Given the description of an element on the screen output the (x, y) to click on. 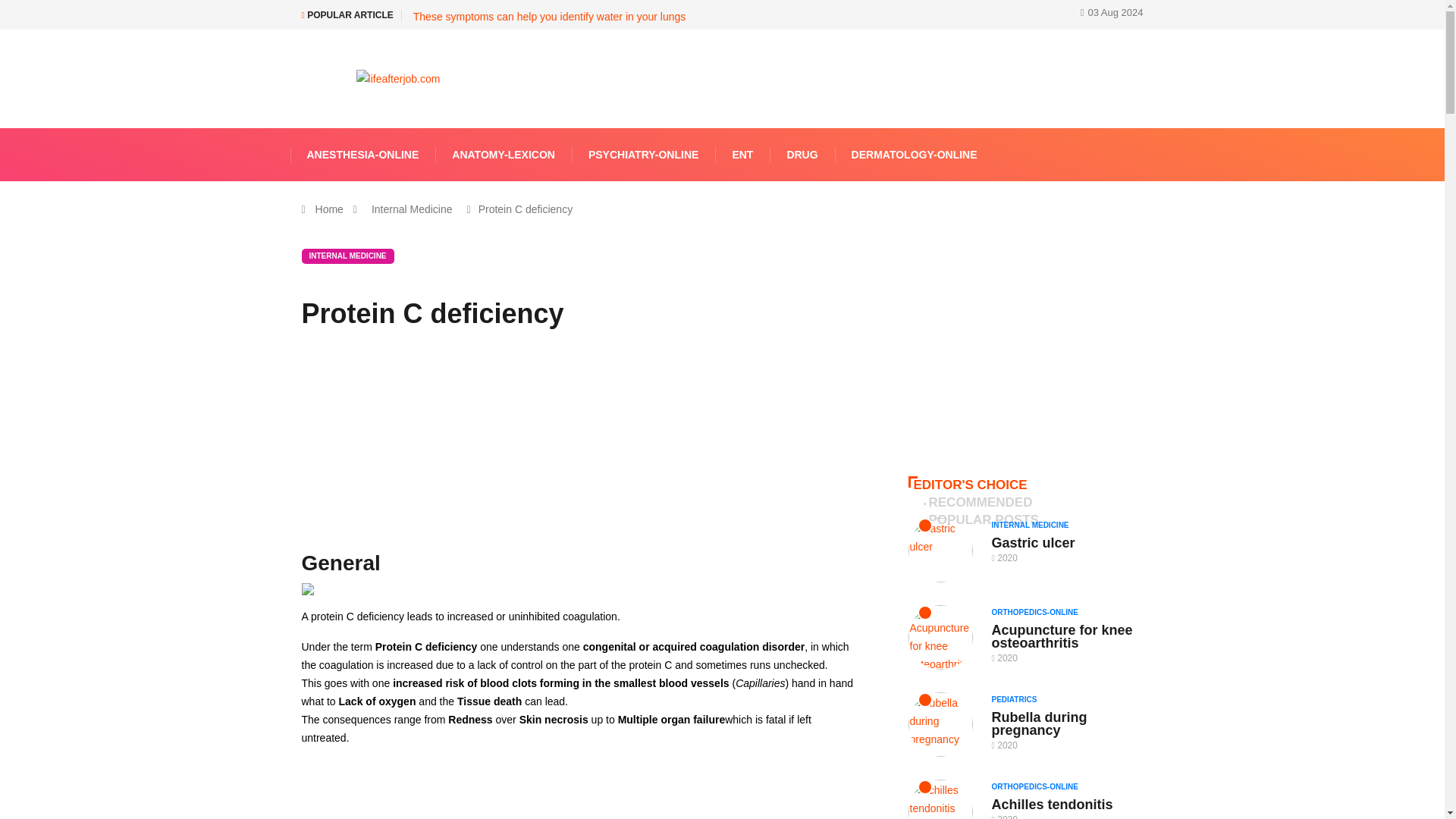
ENT (742, 153)
INTERNAL MEDICINE (347, 255)
Internal Medicine (412, 209)
ANESTHESIA-ONLINE (362, 153)
DRUG (802, 153)
RECOMMENDED (980, 502)
EDITOR'S CHOICE (970, 484)
Home (329, 209)
DERMATOLOGY-ONLINE (914, 153)
ANATOMY-LEXICON (503, 153)
INTERNAL MEDICINE (1034, 525)
PSYCHIATRY-ONLINE (643, 153)
Gastric ulcer (1033, 542)
POPULAR POSTS (983, 520)
These symptoms can help you identify water in your lungs (549, 16)
